Given the description of an element on the screen output the (x, y) to click on. 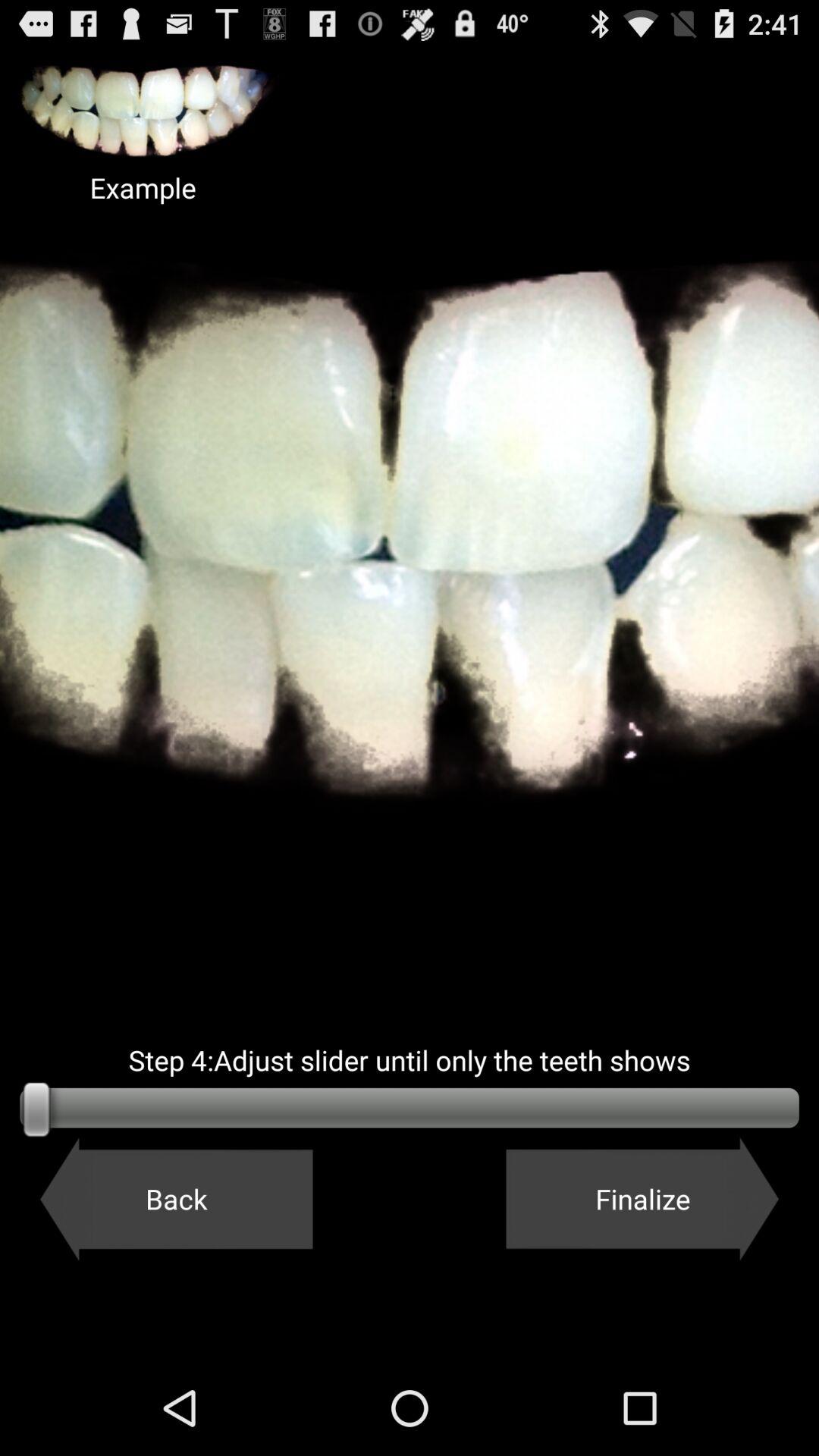
turn off the finalize at the bottom right corner (642, 1198)
